Given the description of an element on the screen output the (x, y) to click on. 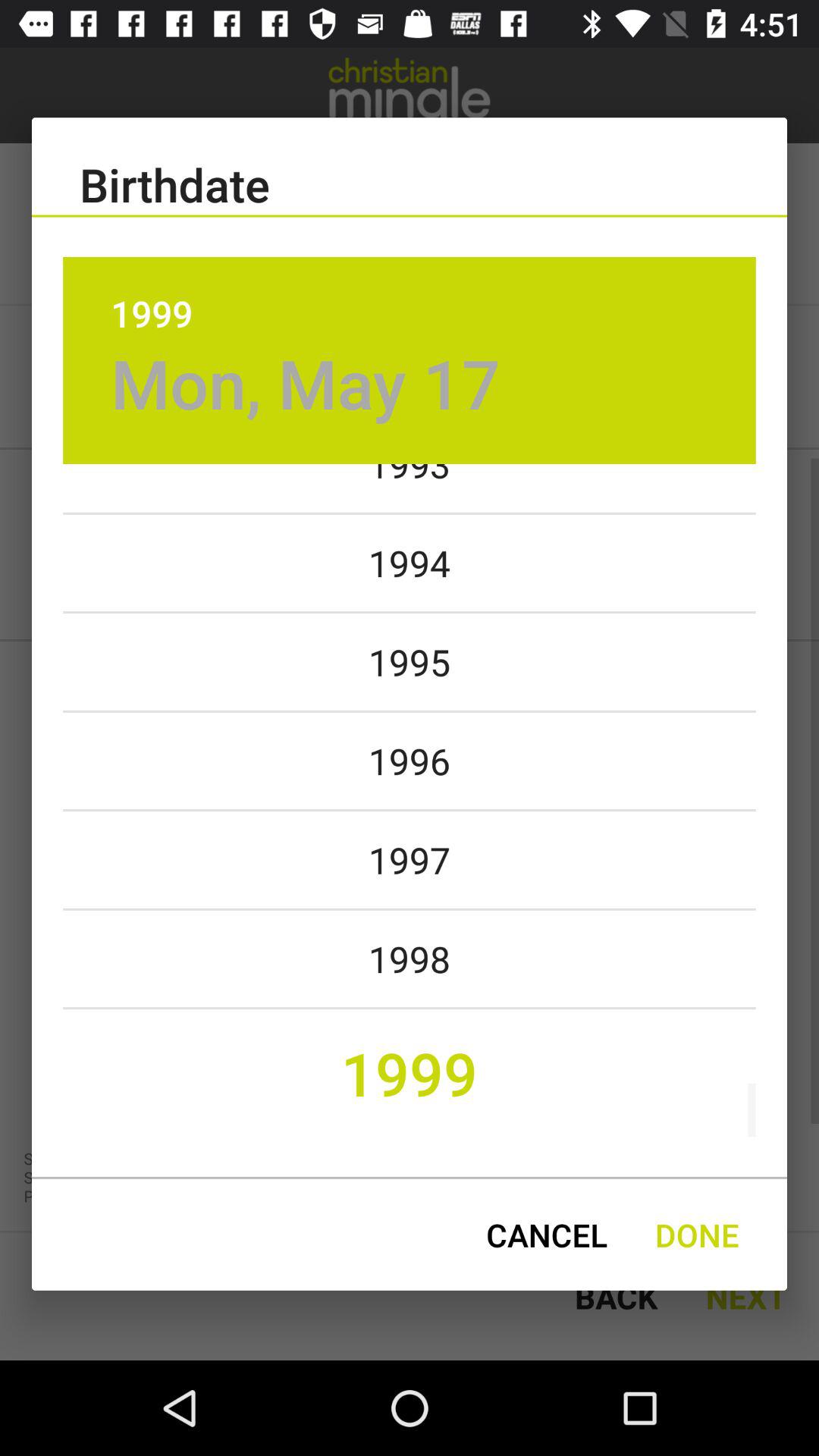
launch the item above 1993 (305, 382)
